Given the description of an element on the screen output the (x, y) to click on. 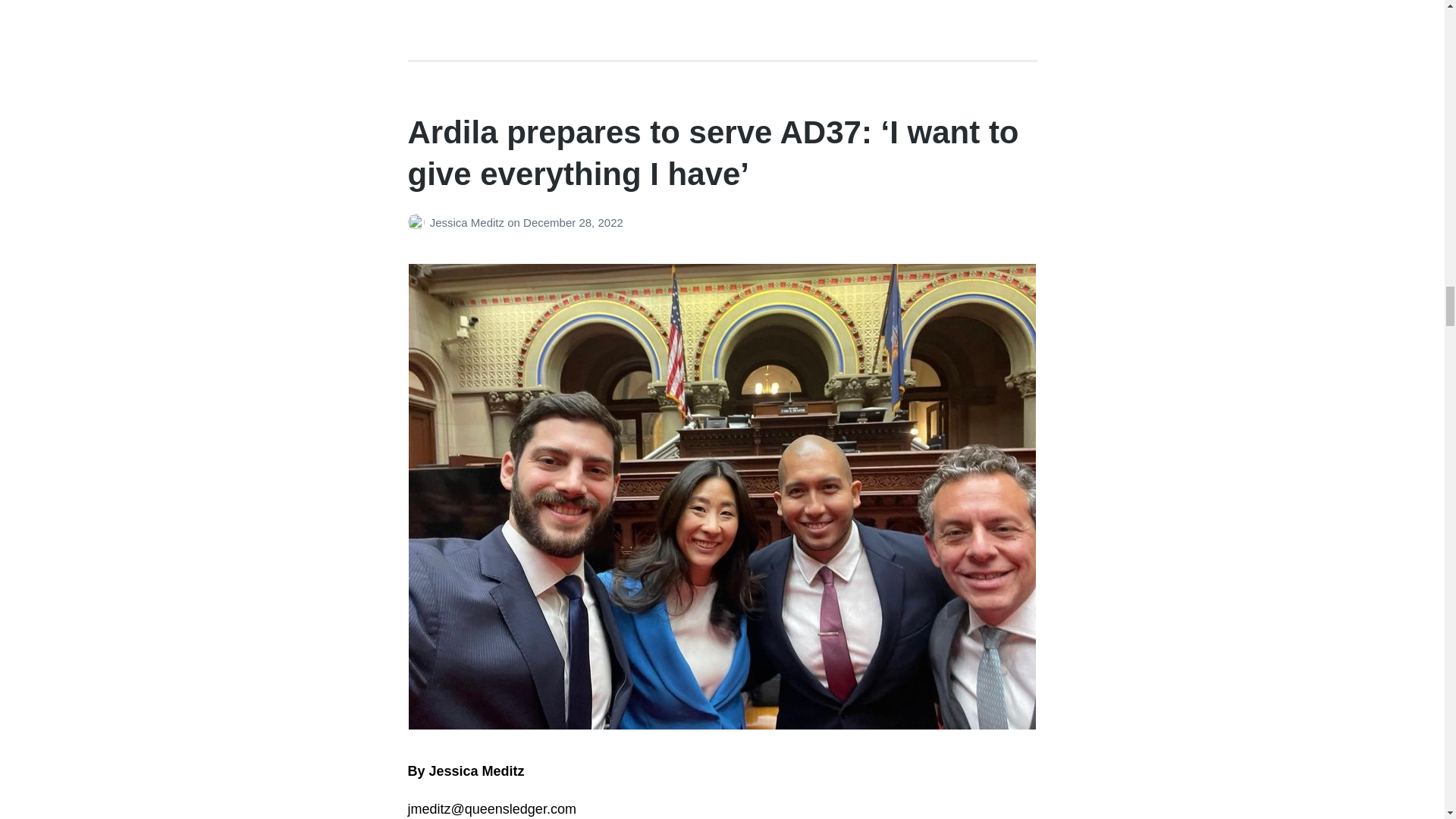
Posts by Jessica Meditz (418, 222)
